Given the description of an element on the screen output the (x, y) to click on. 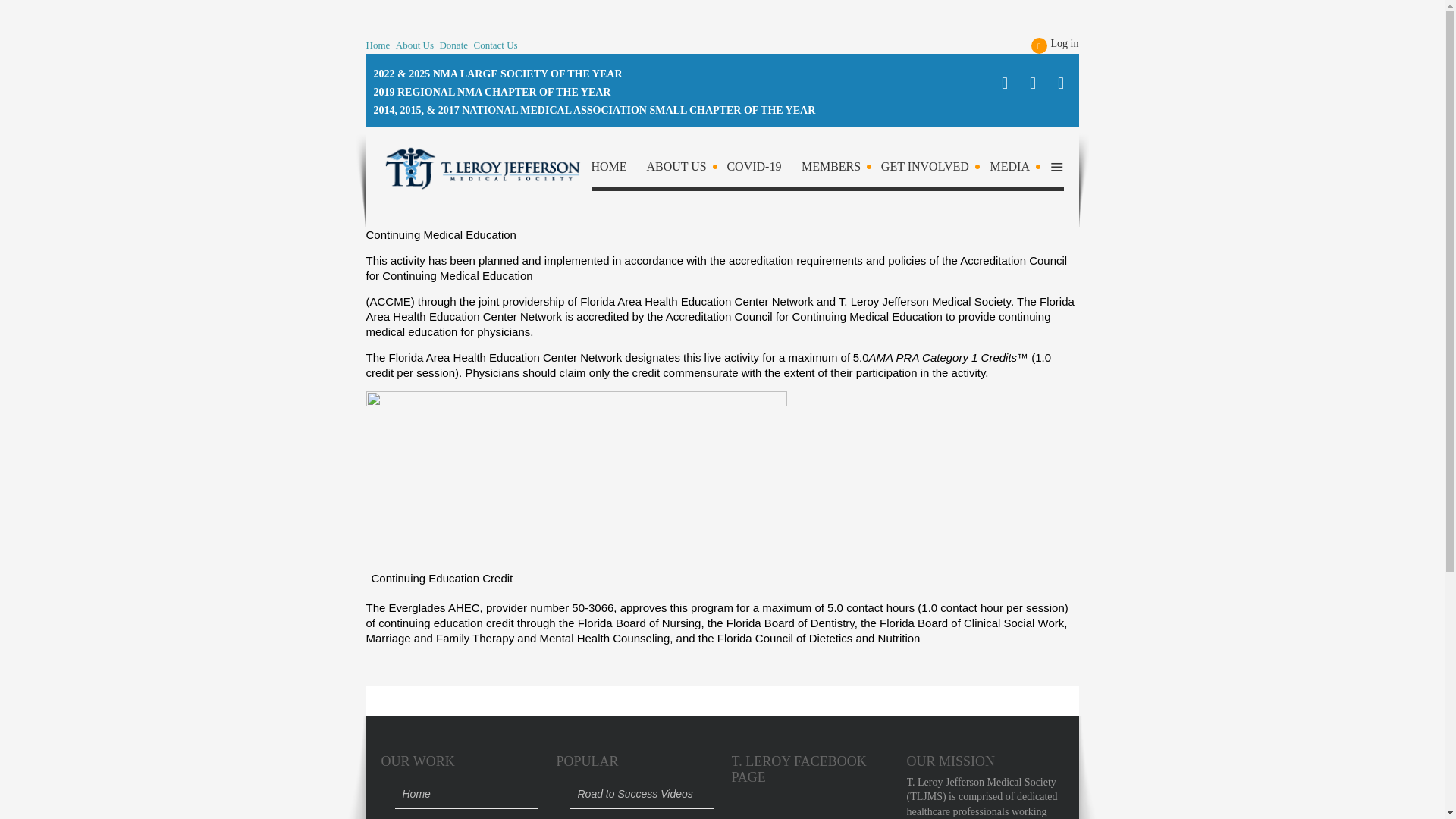
About Us (684, 170)
HOME (618, 170)
ABOUT US (684, 170)
About Us (414, 45)
LinkedIn (1061, 82)
COVID-19 (762, 170)
Donate (453, 45)
GET INVOLVED (933, 170)
Members (840, 170)
Contact Us (496, 45)
